Given the description of an element on the screen output the (x, y) to click on. 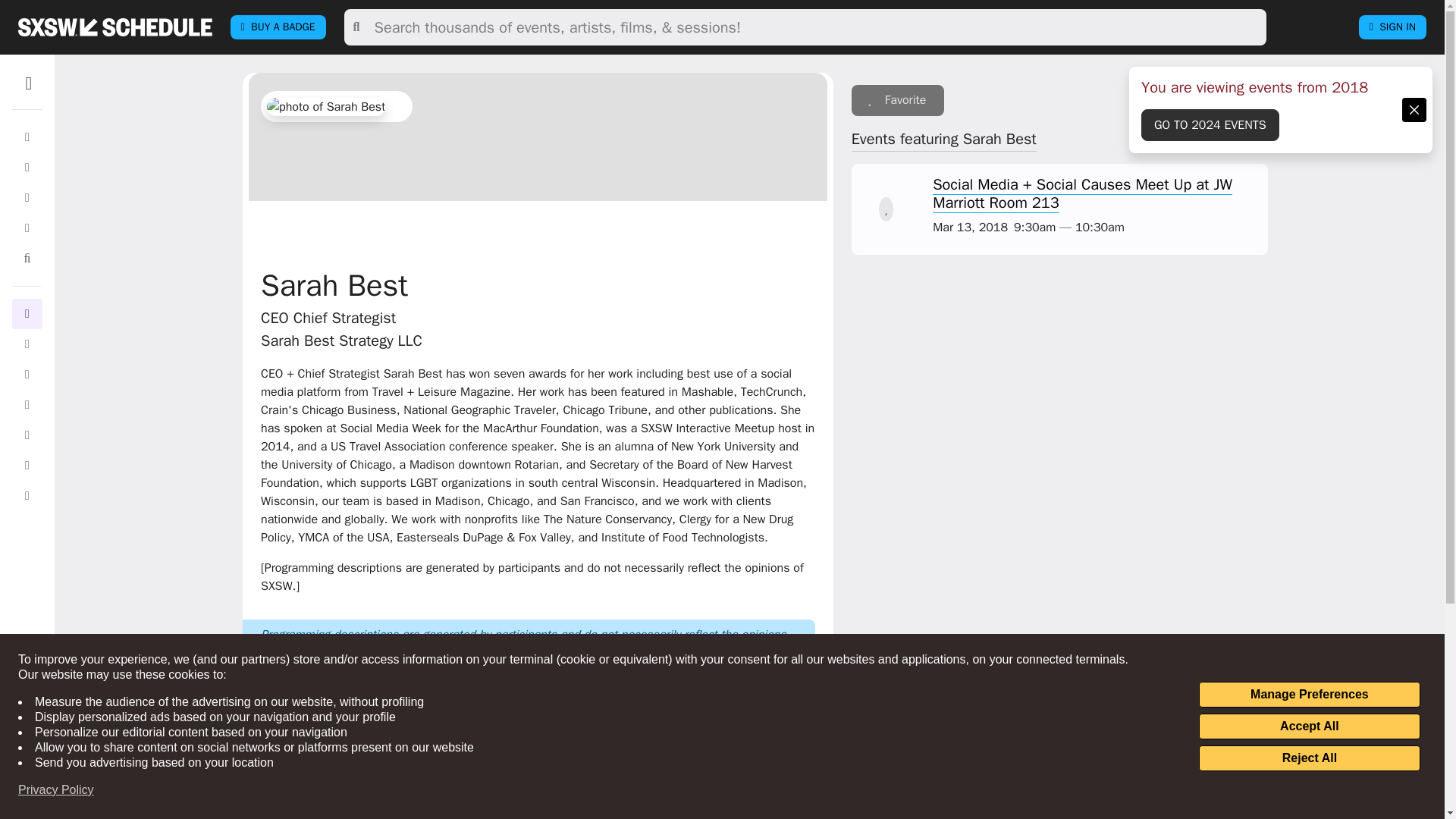
sxsw SCHEDULE (114, 27)
Manage Preferences (1309, 694)
Accept All (1309, 726)
GO TO 2024 EVENTS (1210, 124)
Sign In to add to your favorites. (897, 100)
Privacy Policy (55, 789)
Reject All (1309, 758)
BUY A BADGE (278, 27)
SIGN IN (1392, 27)
